Given the description of an element on the screen output the (x, y) to click on. 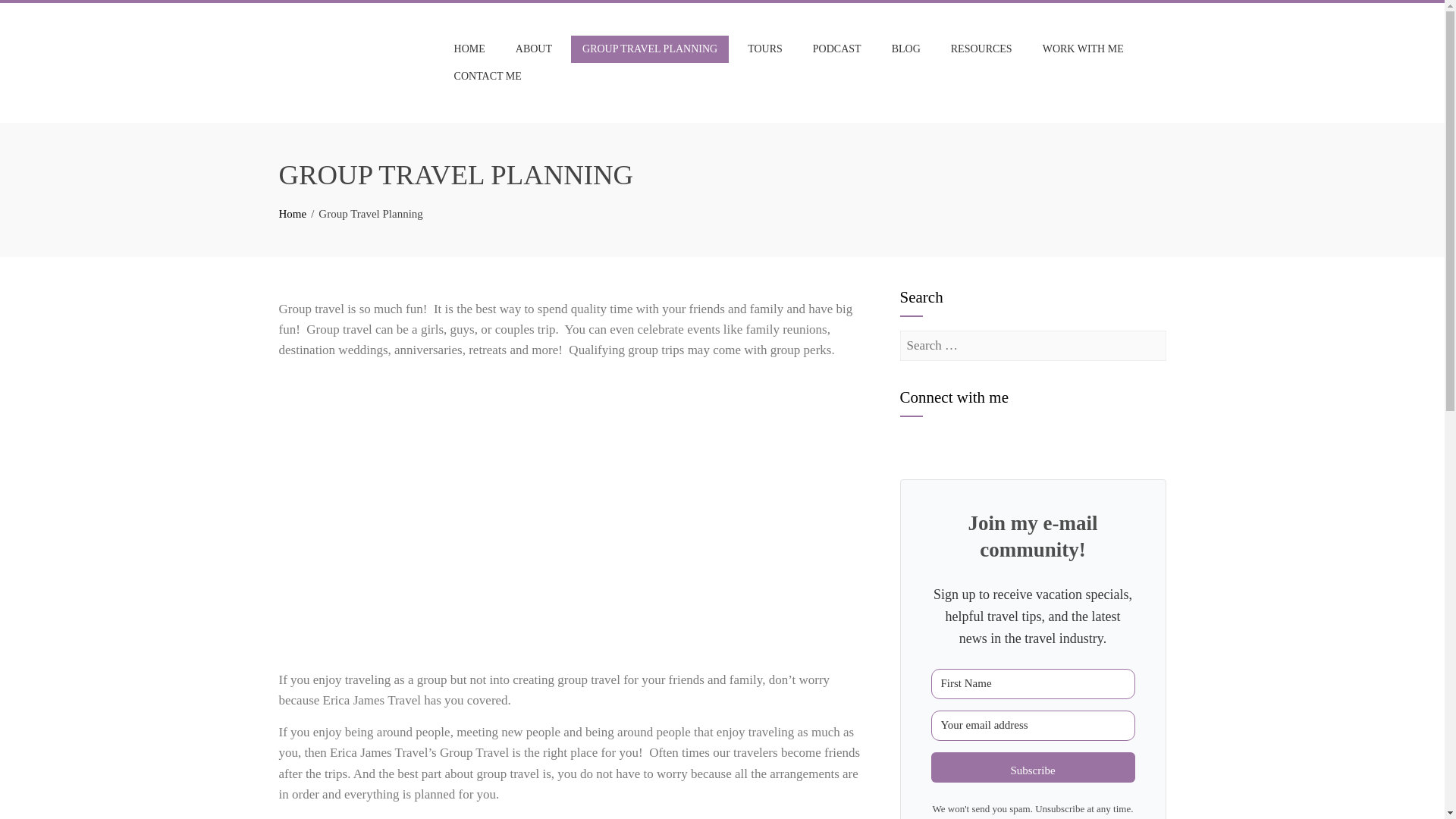
GROUP TRAVEL PLANNING (649, 49)
Home (293, 214)
CONTACT ME (487, 76)
PODCAST (837, 49)
HOME (469, 49)
Subscribe (1033, 767)
Search (32, 15)
TOURS (764, 49)
WORK WITH ME (1082, 49)
ABOUT (533, 49)
